Given the description of an element on the screen output the (x, y) to click on. 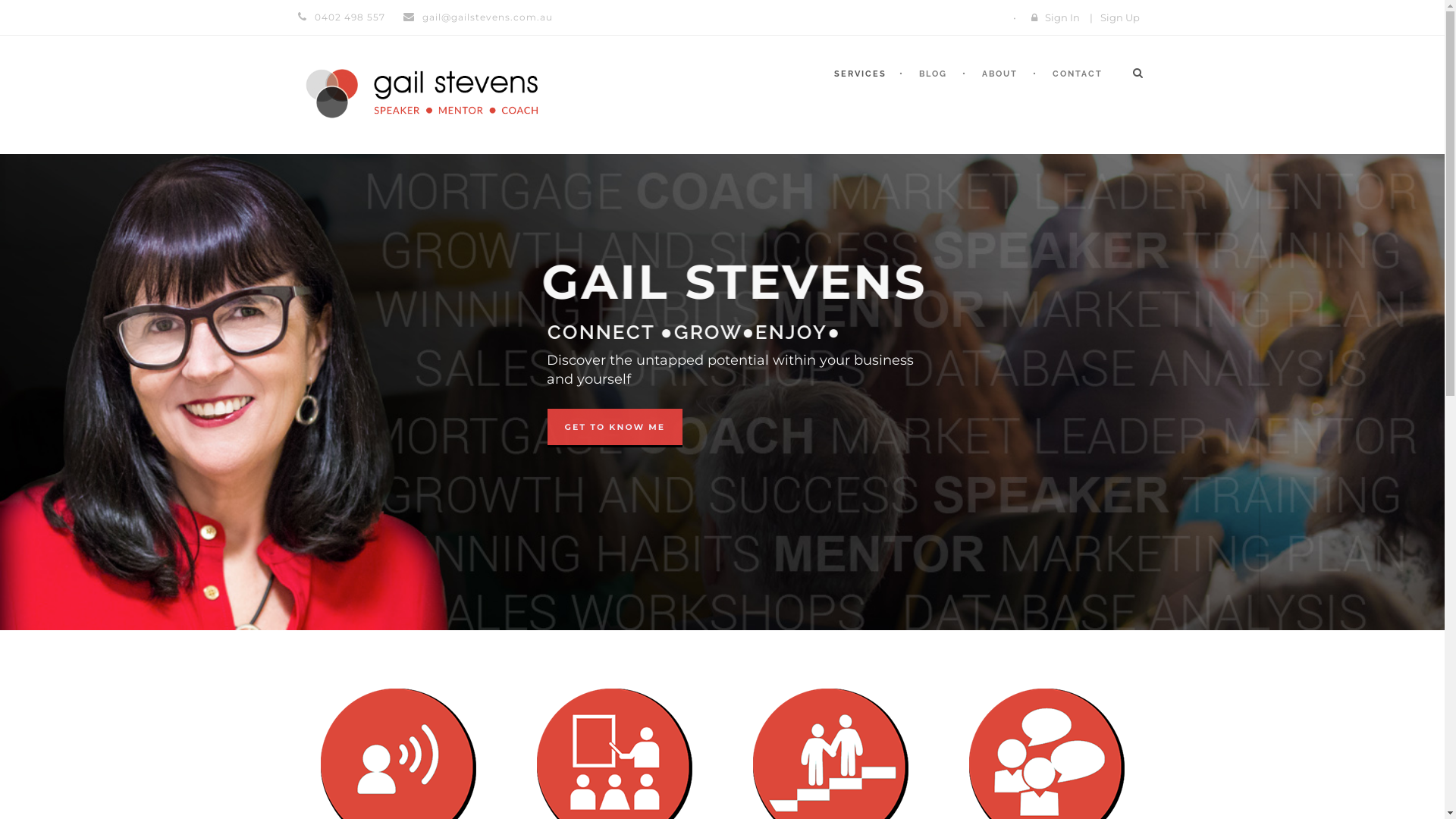
SERVICES Element type: text (866, 90)
Sign Up Element type: text (1119, 17)
Sign In Element type: text (1061, 17)
BLOG Element type: text (930, 90)
CONTACT Element type: text (1074, 104)
ABOUT Element type: text (996, 104)
